Given the description of an element on the screen output the (x, y) to click on. 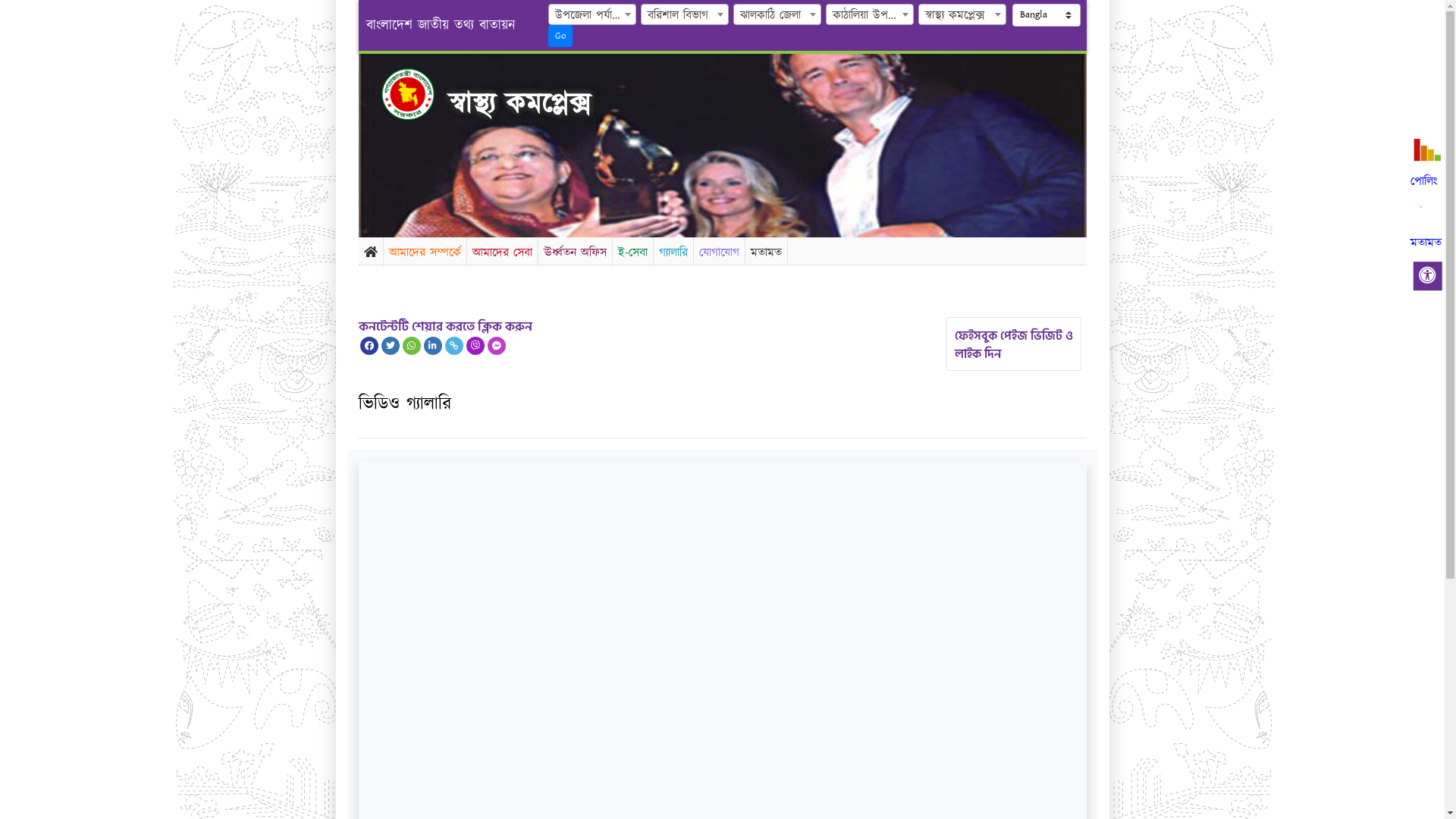
Go Element type: text (560, 36)

                
             Element type: hover (420, 93)
